Given the description of an element on the screen output the (x, y) to click on. 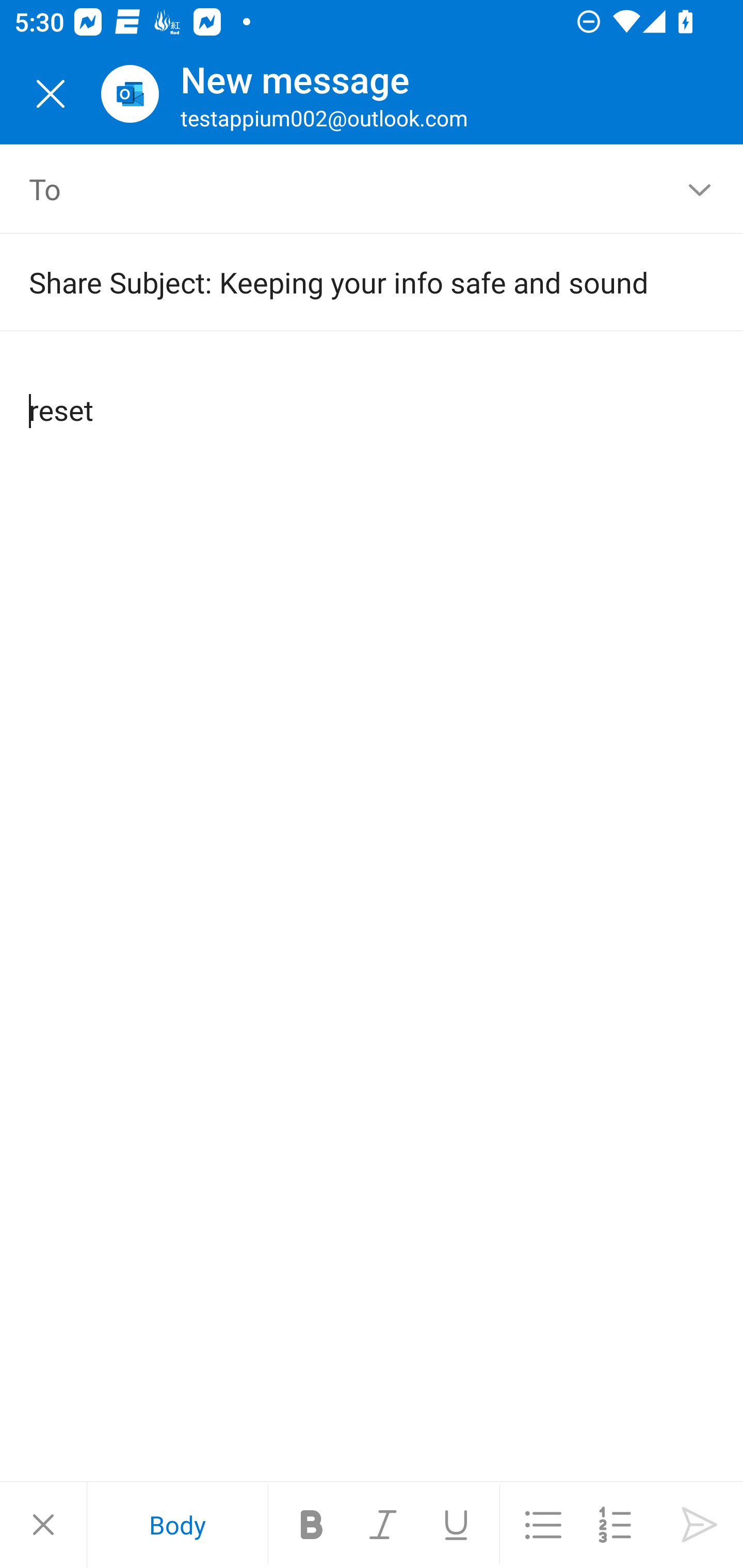
Close (50, 93)
Share Subject: Keeping your info safe and sound (342, 281)

reset (372, 394)
Close (43, 1524)
Send (699, 1524)
Font style button body Body (176, 1524)
Bold (311, 1524)
Italics (384, 1524)
Underline (456, 1524)
Bulleted list (543, 1524)
Numbered list (615, 1524)
